Given the description of an element on the screen output the (x, y) to click on. 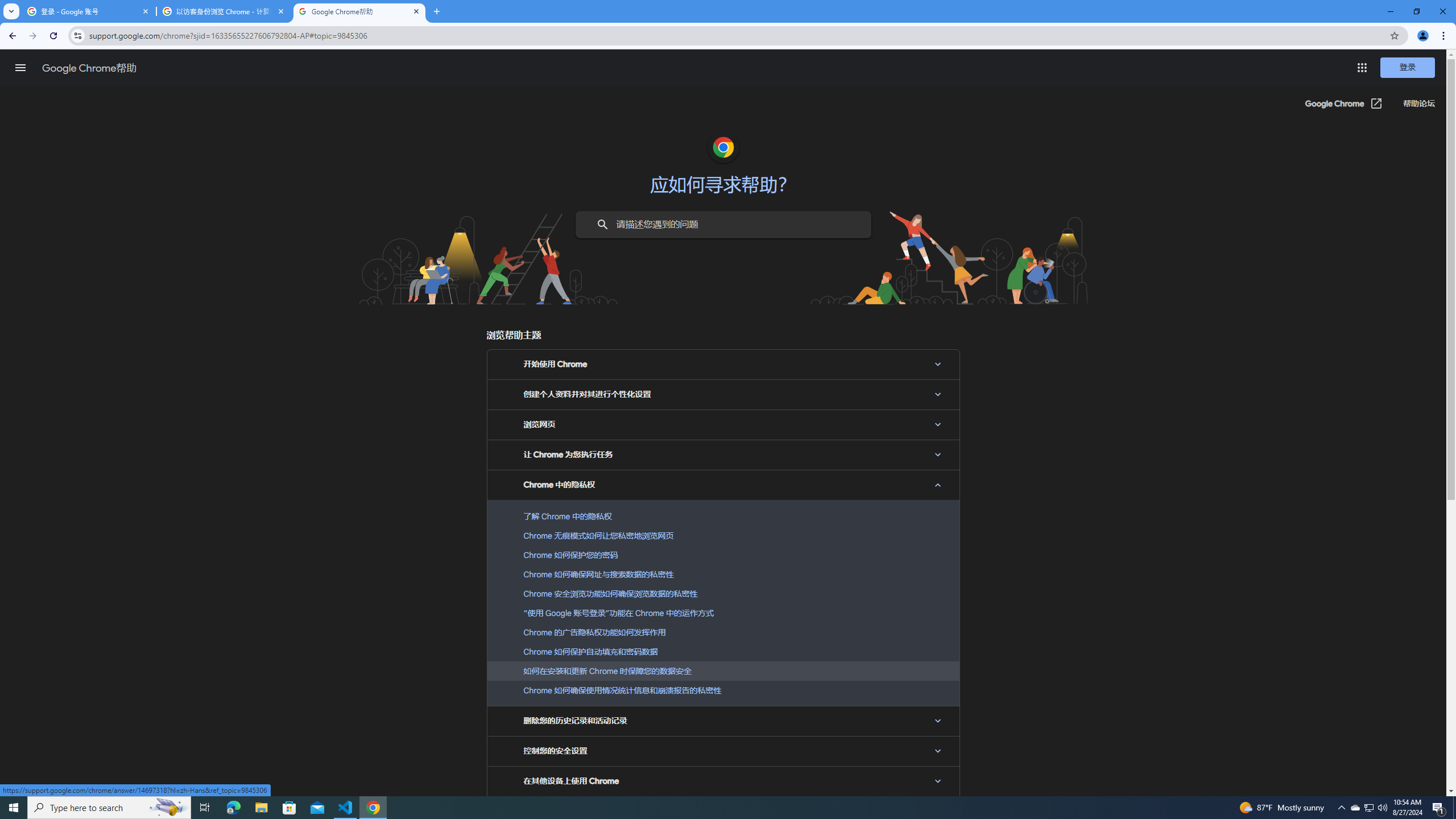
Back (10, 35)
